Given the description of an element on the screen output the (x, y) to click on. 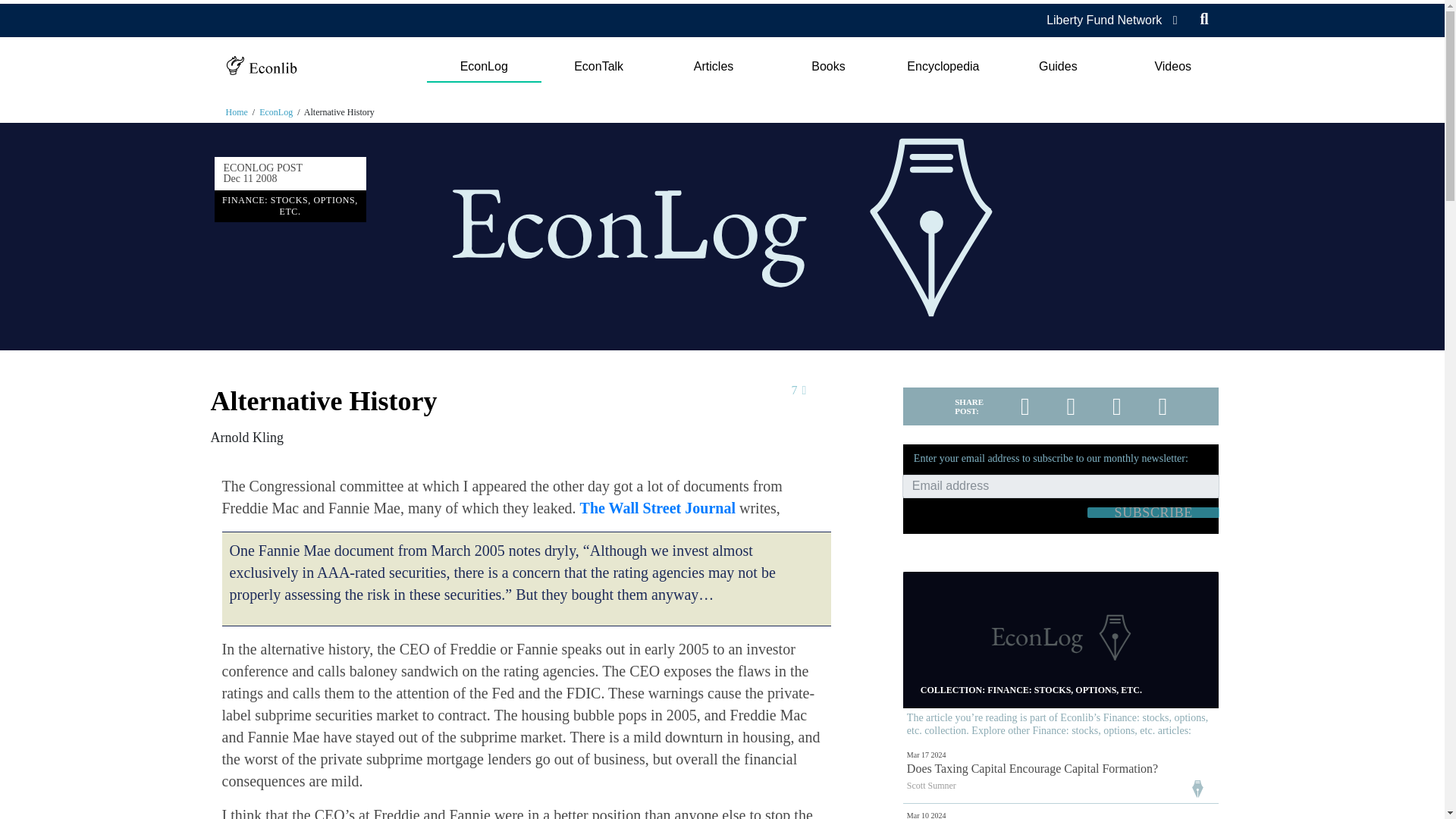
Liberty Fund Network (1104, 20)
Arnold Kling (247, 437)
Subscribe (1153, 511)
EconTalk (598, 66)
EconLog (483, 67)
Articles (713, 66)
Books (828, 66)
Encyclopedia (942, 66)
